Given the description of an element on the screen output the (x, y) to click on. 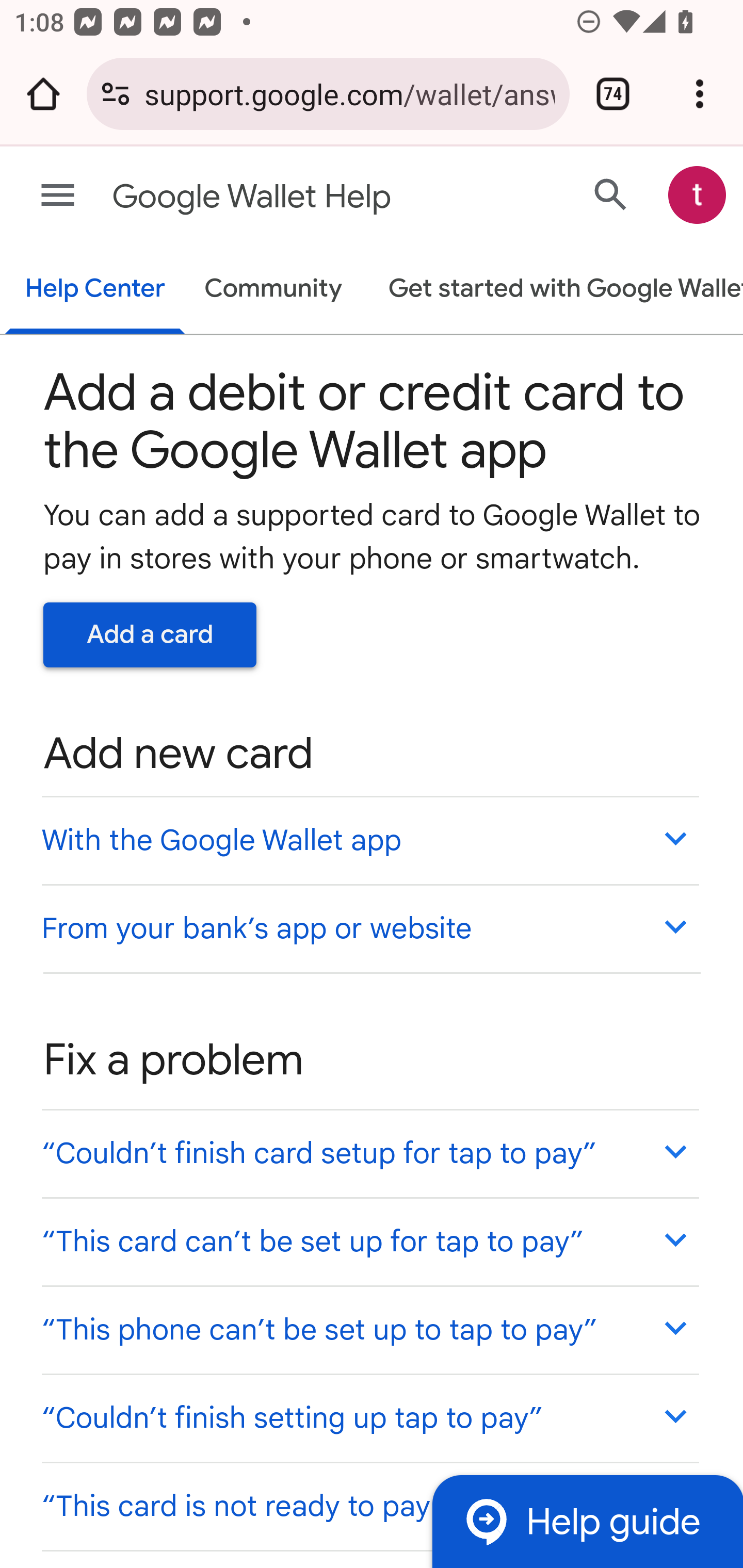
Open the home page (43, 93)
Connection is secure (115, 93)
Switch or close tabs (612, 93)
Customize and control Google Chrome (699, 93)
Main menu (58, 195)
Google Wallet Help (292, 197)
Search Help Center (611, 194)
Help Center (94, 289)
Community (273, 289)
Get started with Google Wallet (555, 289)
Add a card (150, 633)
With the Google Wallet app (369, 839)
From your bank’s app or website (369, 927)
“Couldn’t finish card setup for tap to pay” (369, 1152)
“This card can’t be set up for tap to pay” (369, 1240)
“This phone can’t be set up to tap to pay” (369, 1329)
“Couldn’t finish setting up tap to pay” (369, 1417)
“This card is not ready to pay online” (369, 1504)
Help guide (587, 1520)
